Given the description of an element on the screen output the (x, y) to click on. 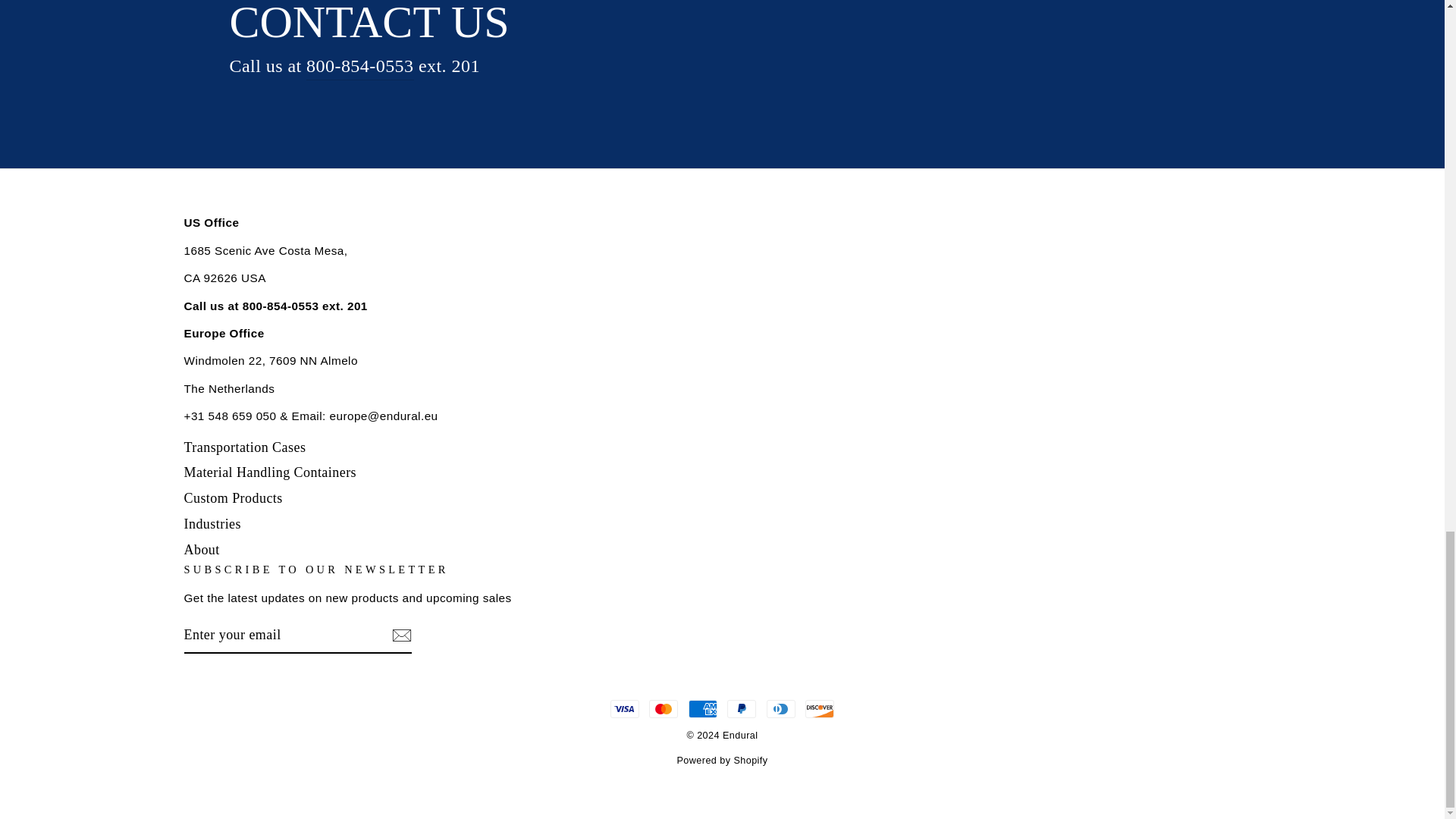
tel:800-854-0553 (359, 66)
Diners Club (780, 709)
Mastercard (663, 709)
icon-email (400, 635)
PayPal (740, 709)
Discover (819, 709)
American Express (702, 709)
Visa (624, 709)
